Given the description of an element on the screen output the (x, y) to click on. 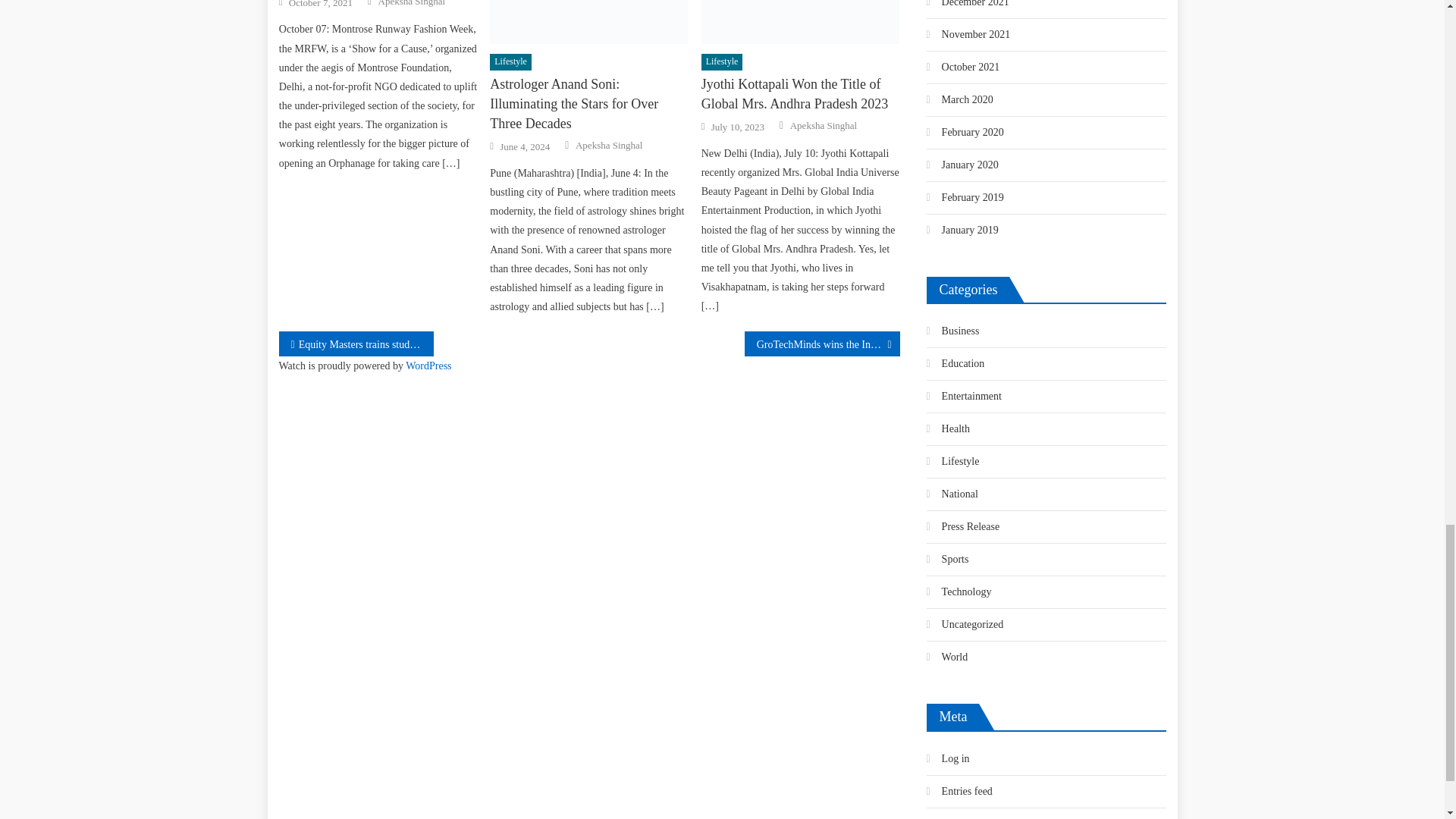
Apeksha Singhal (411, 4)
October 7, 2021 (320, 4)
Lifestyle (510, 62)
